Given the description of an element on the screen output the (x, y) to click on. 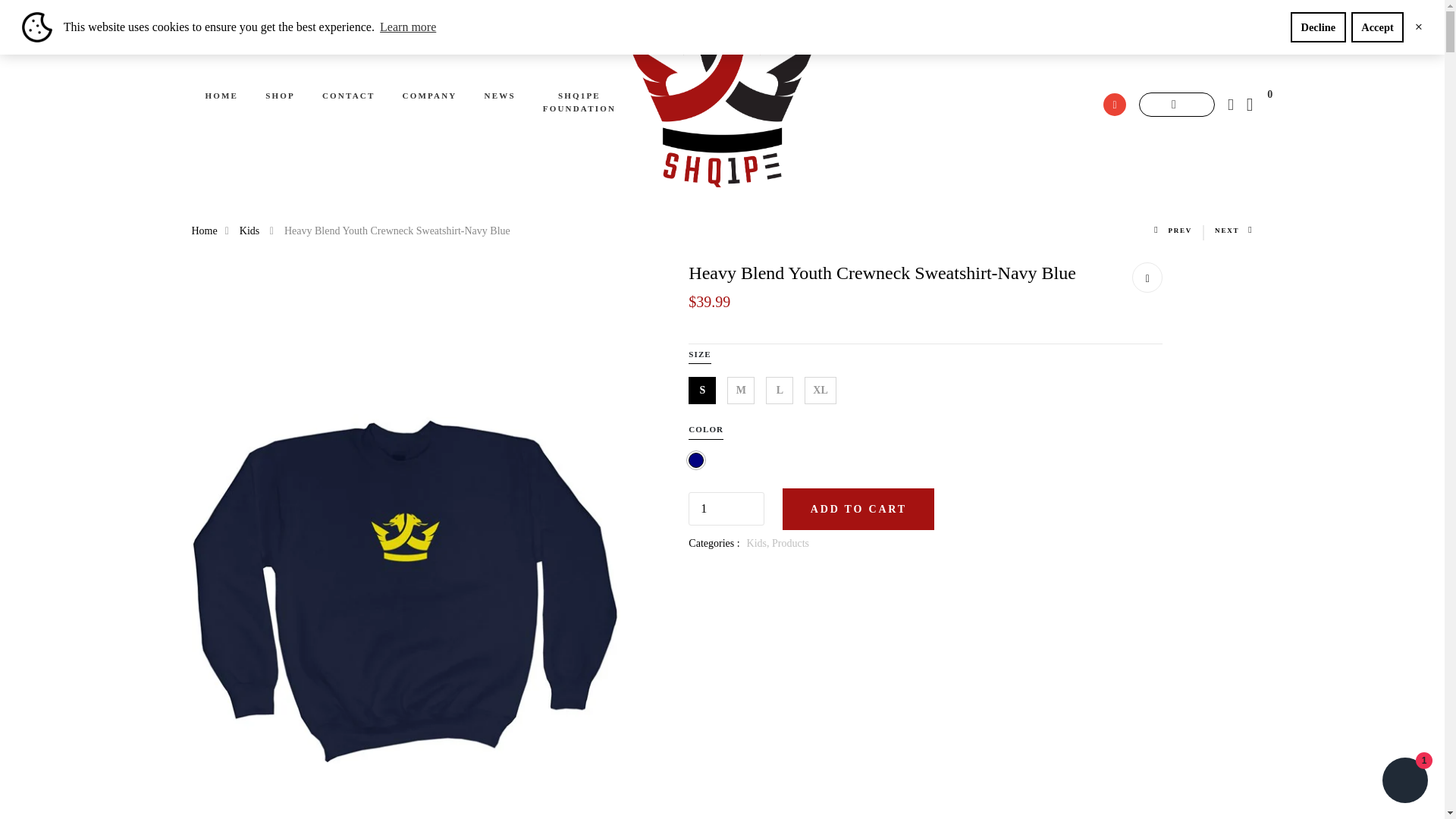
CONTACT (348, 96)
Search... (1114, 105)
1 (726, 508)
Contact (348, 96)
Shq1pe Foundation (579, 102)
COMPANY (429, 96)
Accept (1377, 27)
SHOP (279, 96)
Learn more (408, 26)
Shop (279, 96)
NEWS (499, 96)
HOME (221, 96)
Home (221, 96)
News (499, 96)
Login (1177, 104)
